Given the description of an element on the screen output the (x, y) to click on. 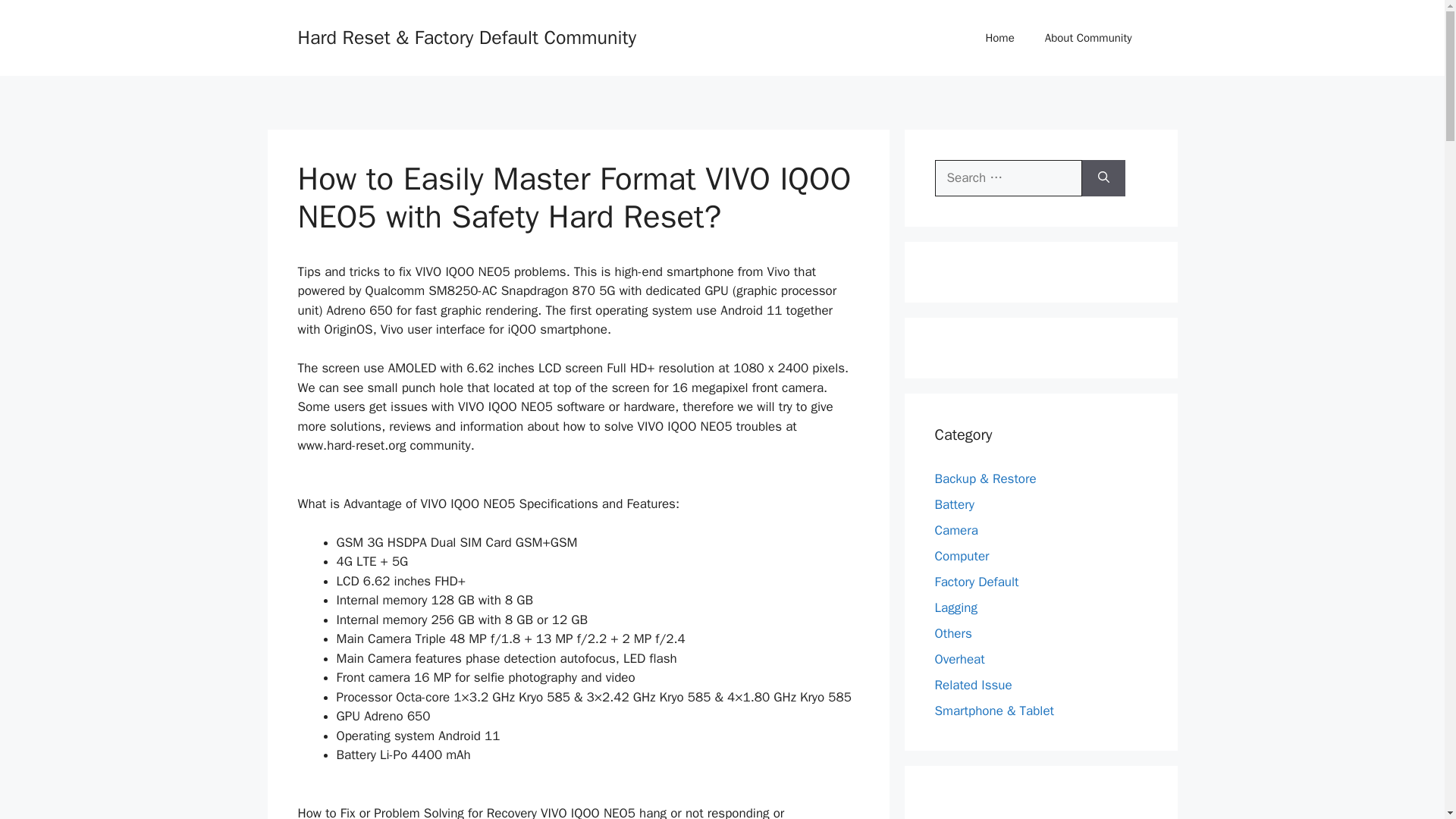
Search for: (1007, 177)
About Community (1088, 37)
Camera (955, 529)
Home (999, 37)
Battery (954, 503)
Computer (961, 555)
